Given the description of an element on the screen output the (x, y) to click on. 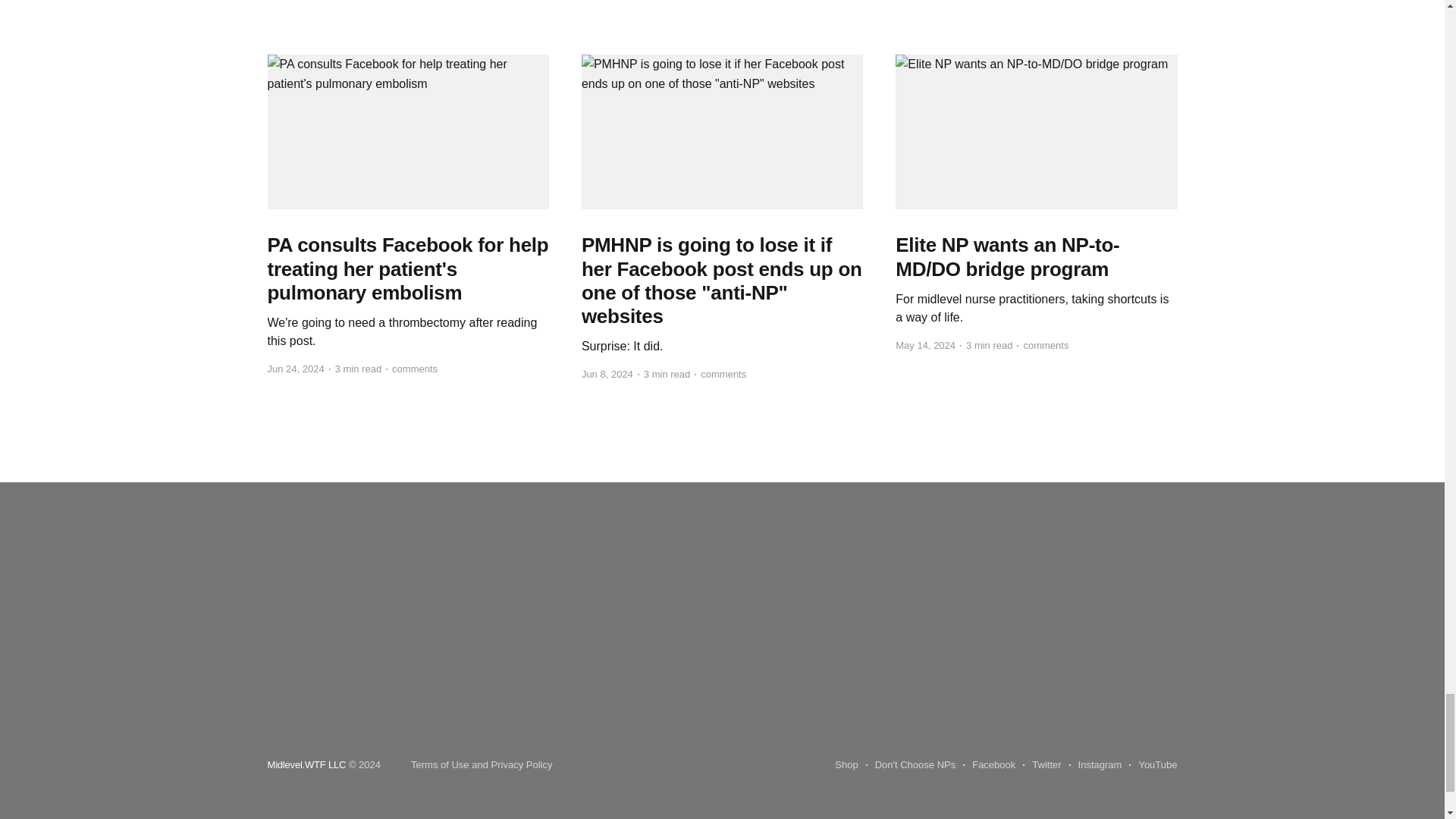
comments (411, 369)
Terms of Use (439, 764)
comments (1042, 345)
Shop (845, 764)
Midlevel.WTF LLC (306, 764)
Privacy Policy (522, 764)
comments (719, 374)
